Given the description of an element on the screen output the (x, y) to click on. 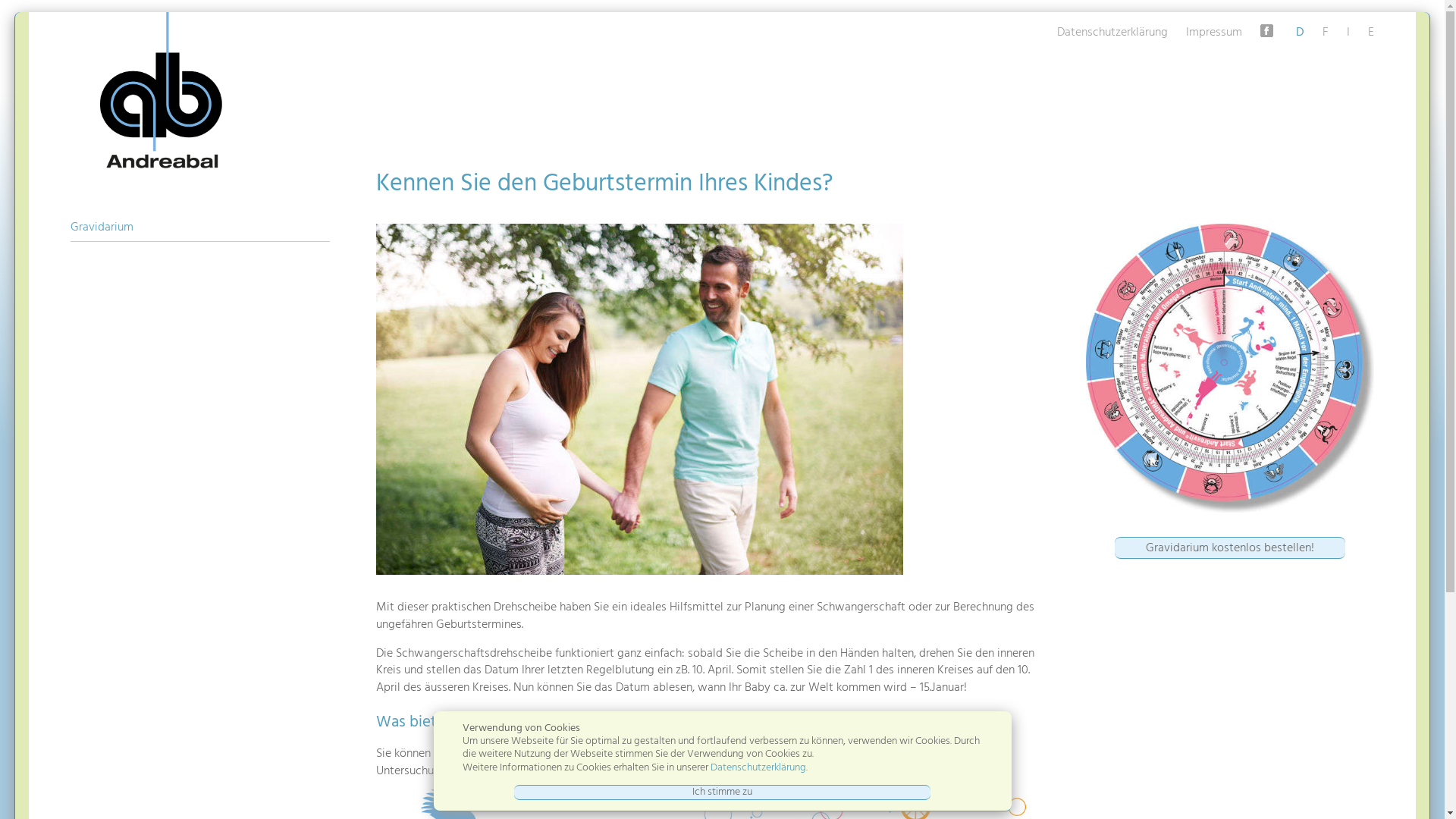
Impressum Element type: text (1214, 32)
Ich stimme zu Element type: text (722, 791)
Gravidarium kostenlos bestellen! Element type: text (1229, 548)
I Element type: text (1347, 32)
F Element type: text (1325, 32)
E Element type: text (1371, 32)
